Given the description of an element on the screen output the (x, y) to click on. 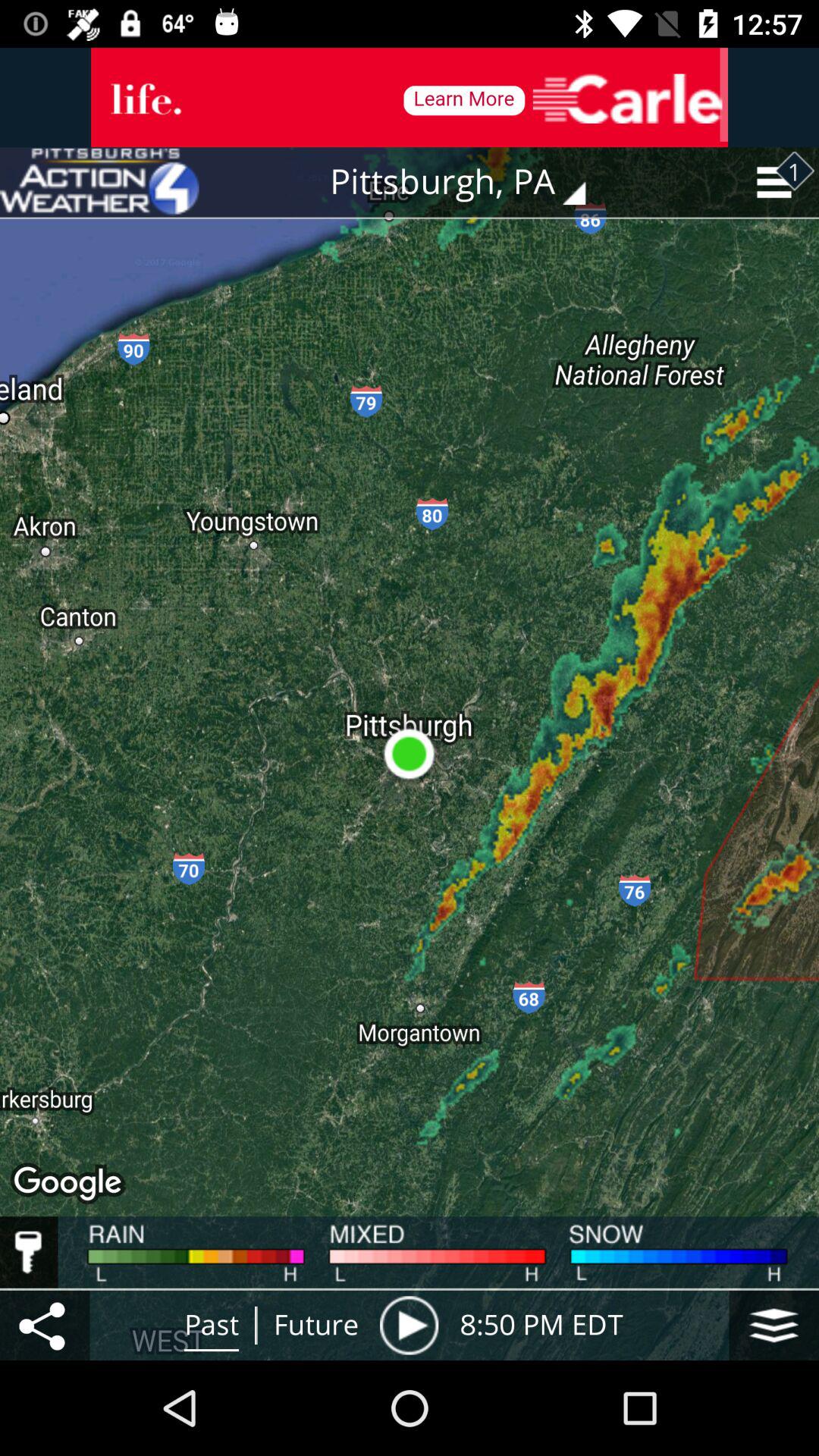
open pittsburgh, pa icon (468, 182)
